Given the description of an element on the screen output the (x, y) to click on. 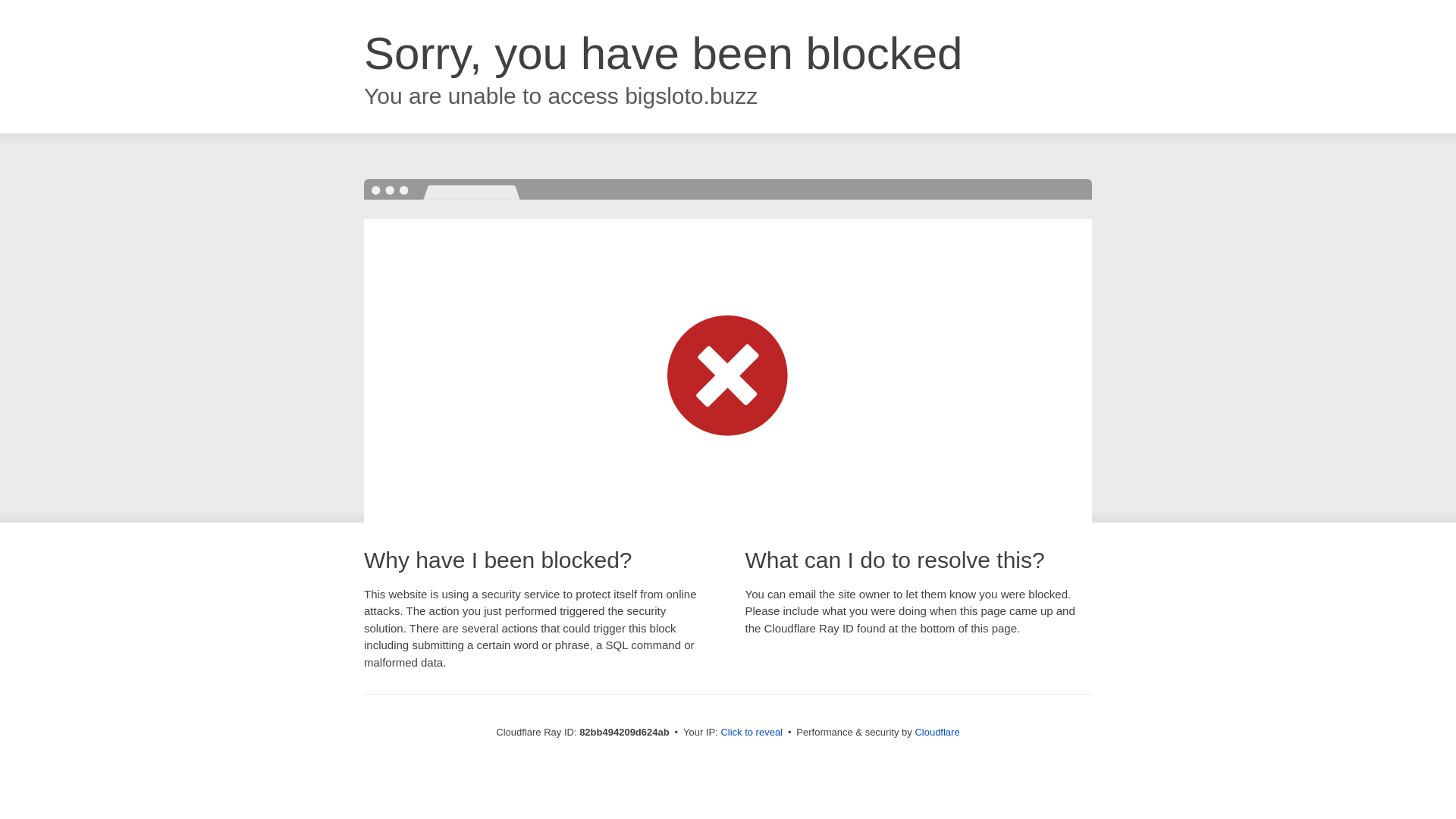
Click to reveal Element type: text (751, 732)
Cloudflare Element type: text (936, 731)
